Given the description of an element on the screen output the (x, y) to click on. 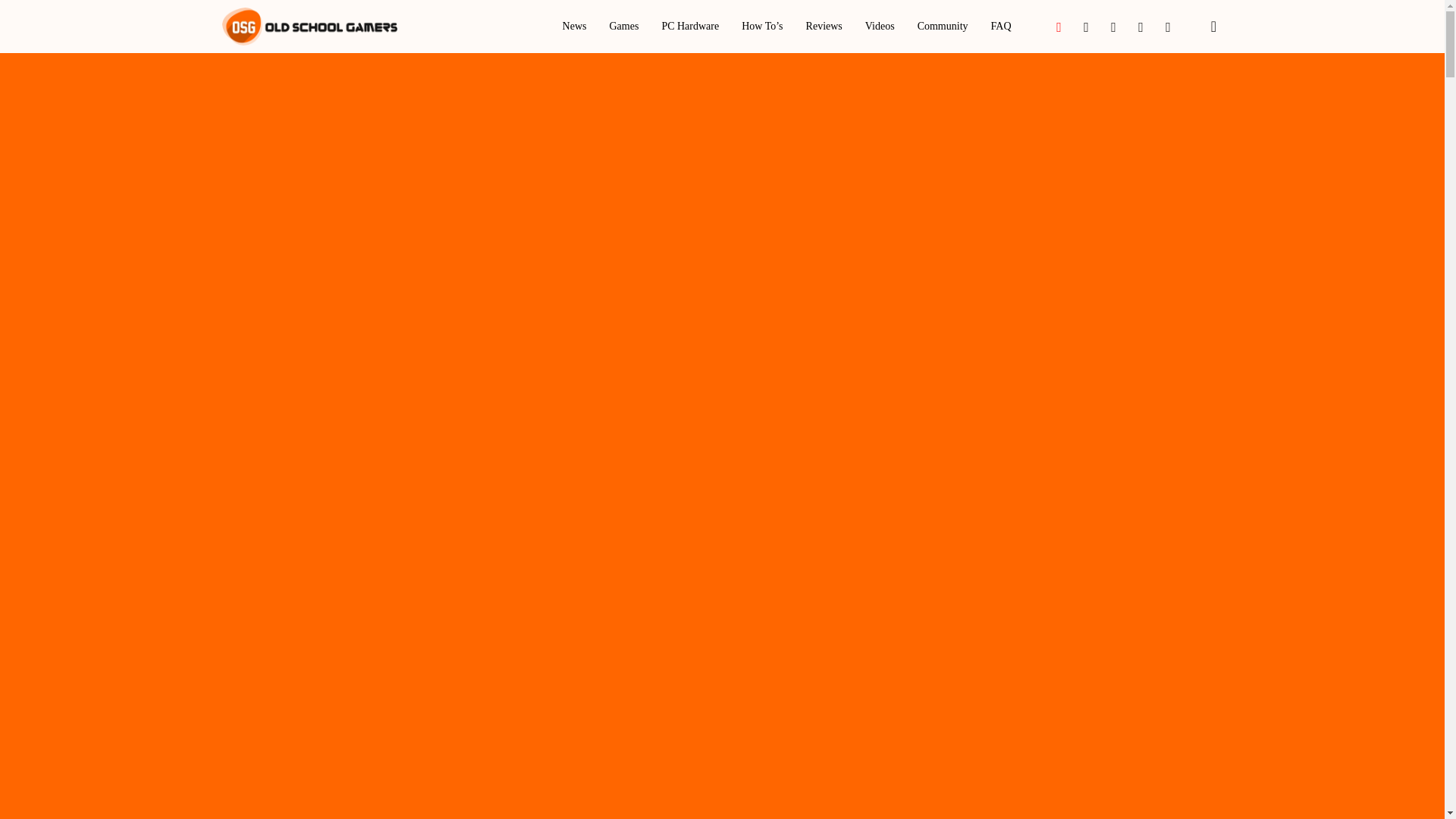
PC Hardware (690, 26)
Games (623, 26)
News (574, 26)
